Given the description of an element on the screen output the (x, y) to click on. 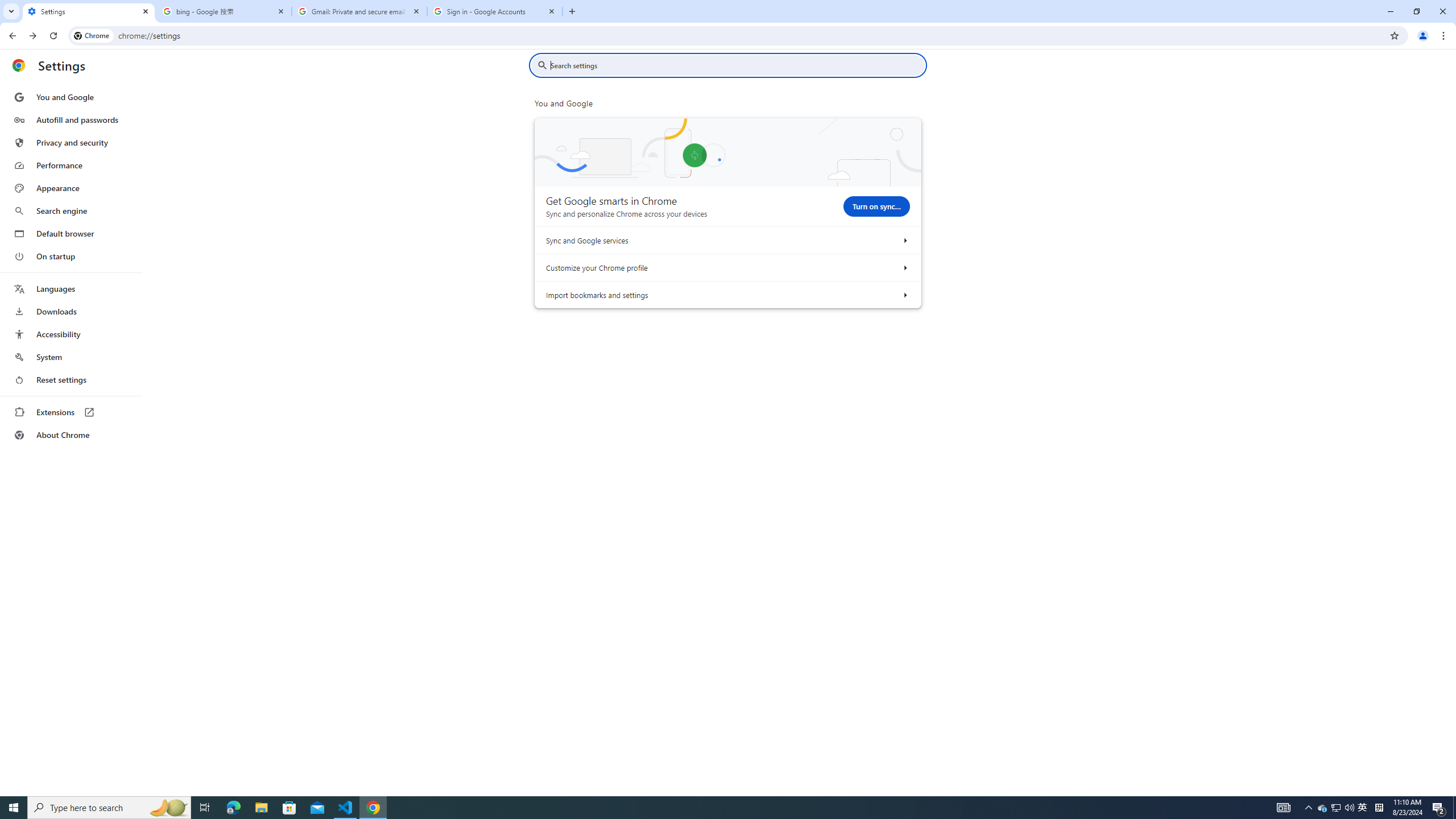
Autofill and passwords (70, 119)
Search engine (70, 210)
Privacy and security (70, 142)
Settings (88, 11)
Import bookmarks and settings (904, 294)
Customize your Chrome profile (904, 266)
Default browser (70, 233)
